Given the description of an element on the screen output the (x, y) to click on. 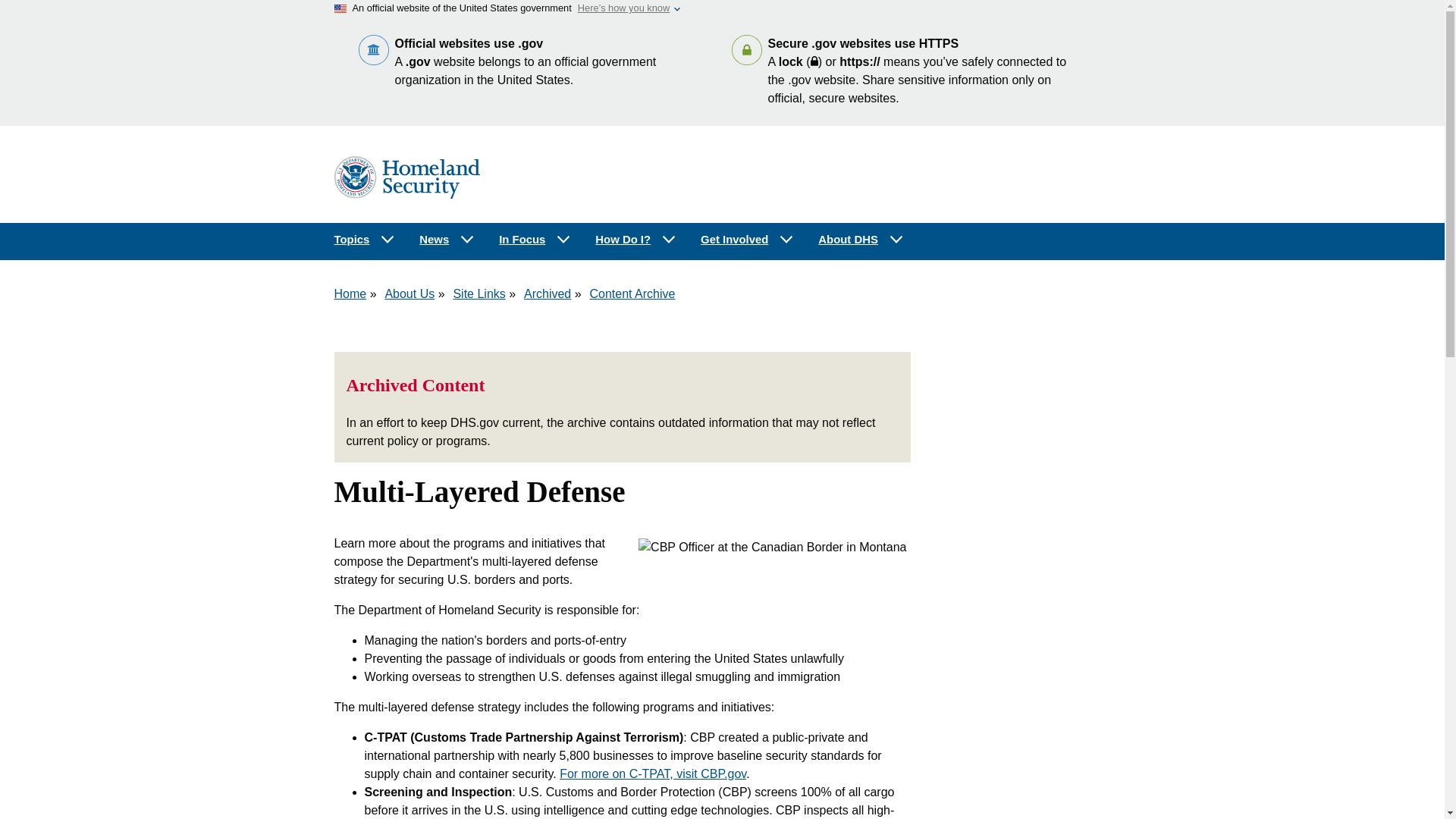
News (446, 239)
Archived (547, 293)
About Us (408, 293)
Topics (364, 239)
Home (349, 293)
Site Links (478, 293)
In Focus (534, 239)
How Do I? (635, 239)
Content Archive (632, 293)
For more on C-TPAT, visit CBP.gov (652, 773)
Get Involved (747, 239)
About DHS (860, 239)
